Given the description of an element on the screen output the (x, y) to click on. 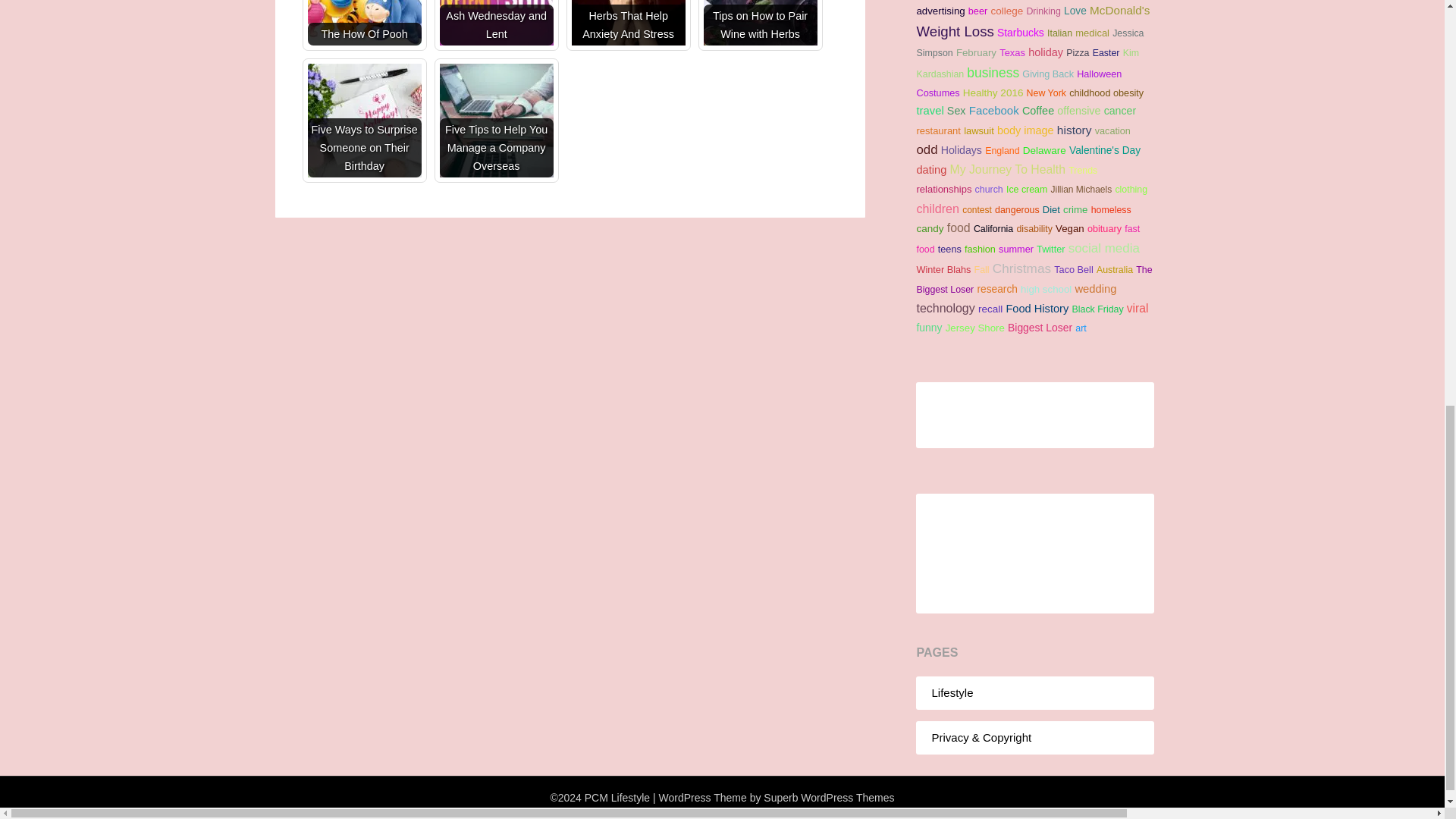
beer (977, 10)
The How Of Pooh (364, 22)
The How Of Pooh (364, 22)
advertising (939, 10)
Herbs That Help Anxiety And Stress (628, 22)
Tips on How to Pair Wine with Herbs (759, 22)
Herbs That Help Anxiety And Stress (628, 22)
college (1006, 10)
Ash Wednesday and Lent (496, 22)
Five Ways to Surprise Someone on Their Birthday (364, 120)
